Given the description of an element on the screen output the (x, y) to click on. 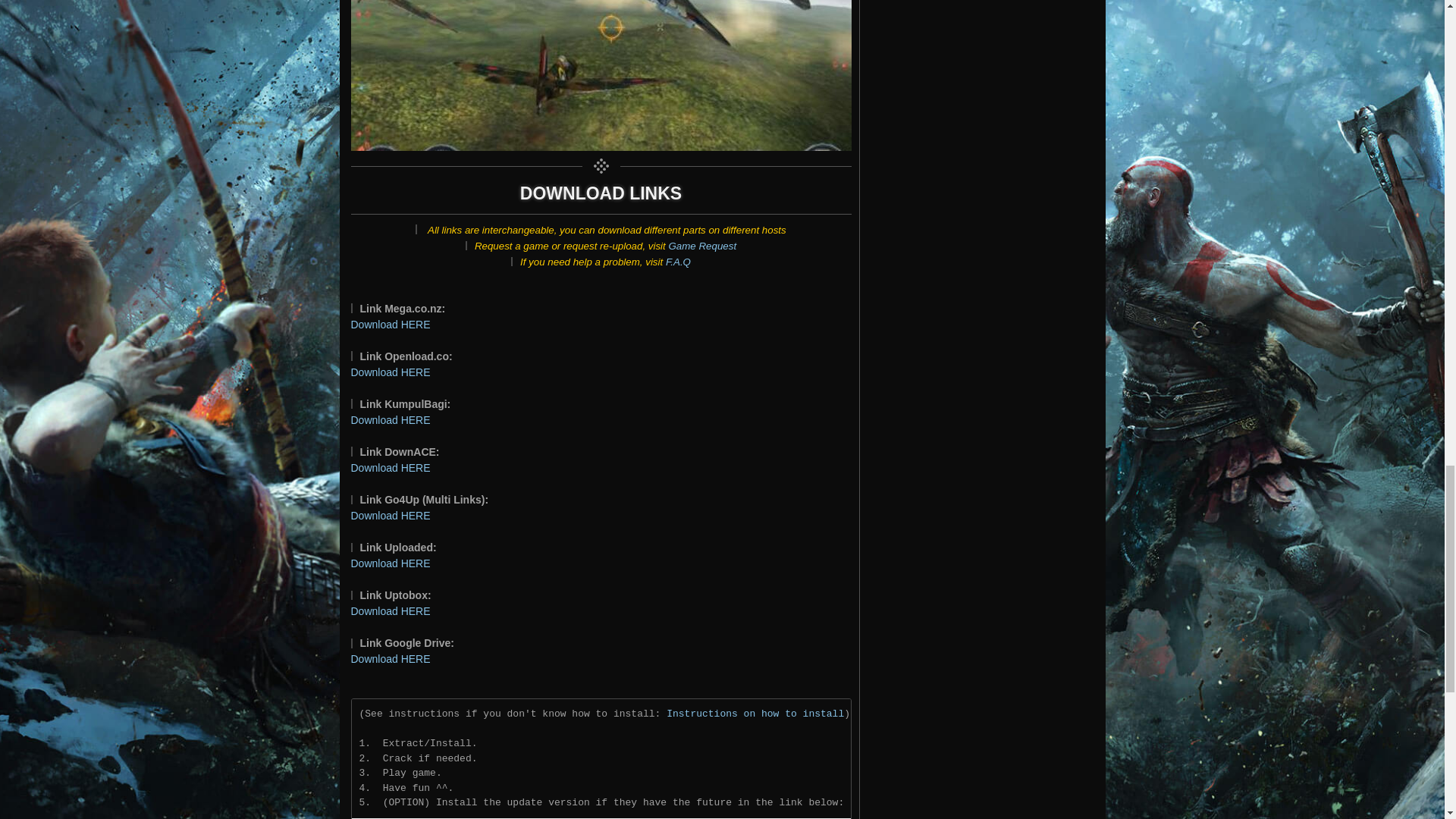
Combat Wings: Battle of Britain PC Crack (600, 75)
